Given the description of an element on the screen output the (x, y) to click on. 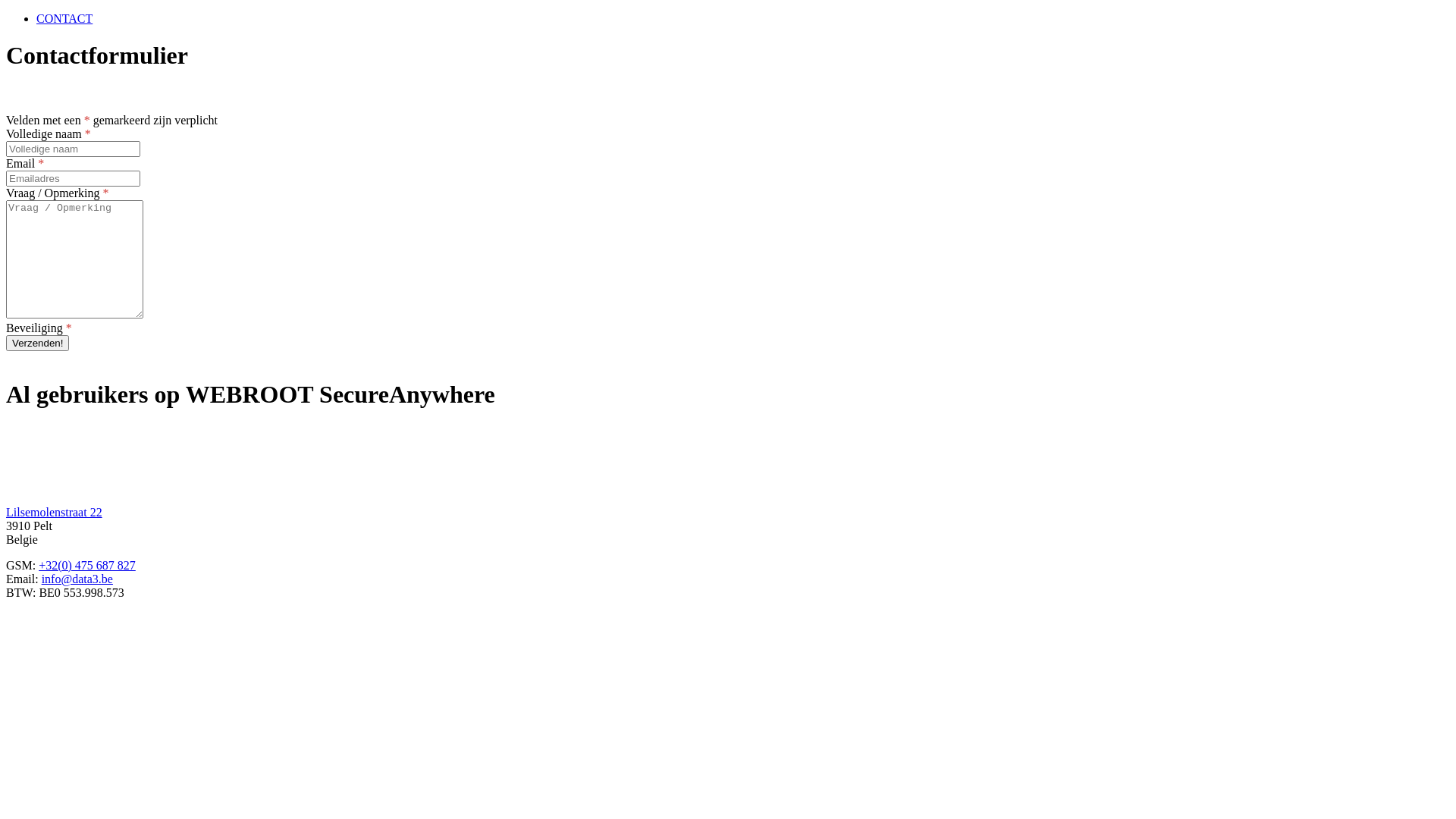
info@data3.be Element type: text (76, 578)
CONTACT Element type: text (64, 18)
Verzenden! Element type: text (37, 343)
Lilsemolenstraat 22 Element type: text (54, 511)
+32(0) 475 687 827 Element type: text (86, 564)
